Given the description of an element on the screen output the (x, y) to click on. 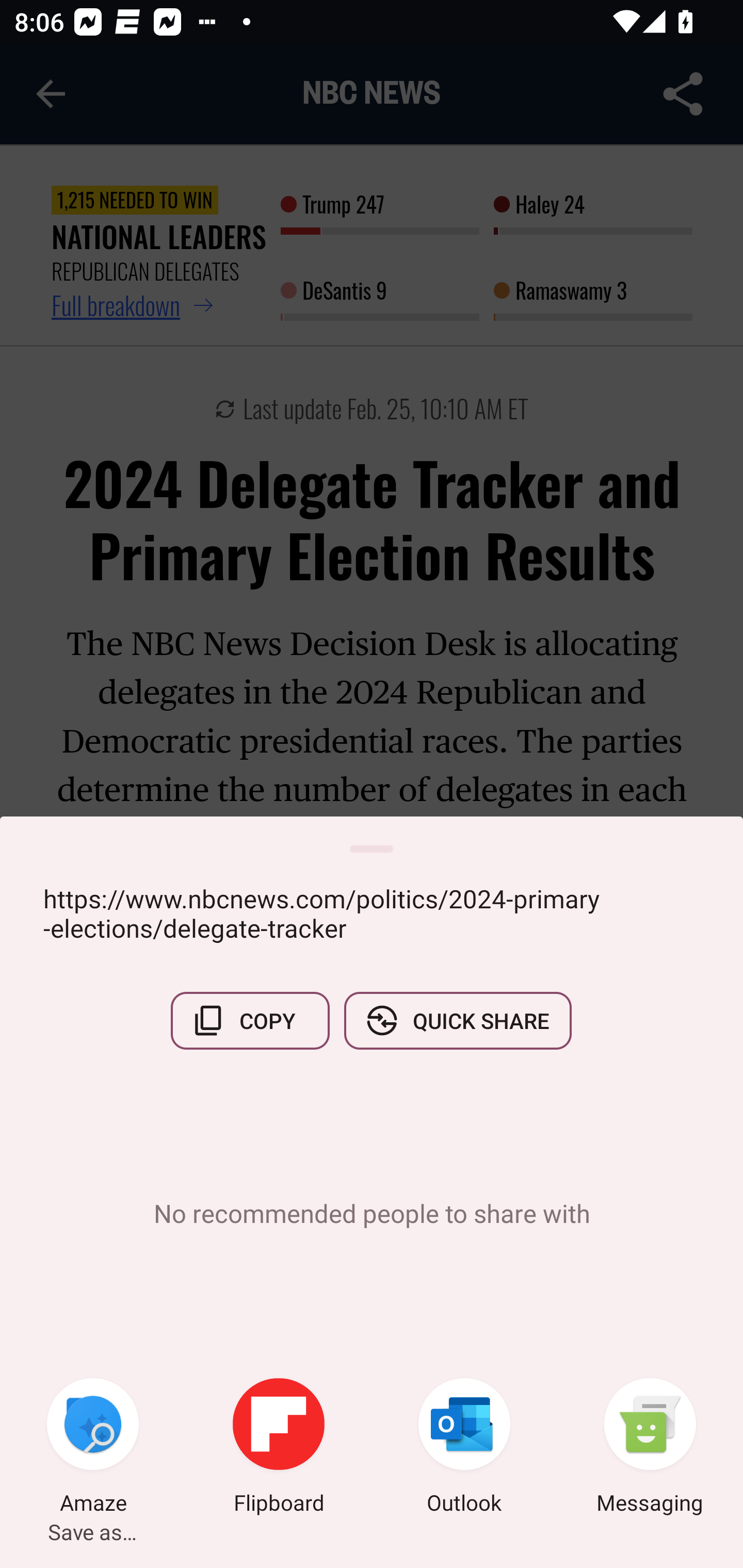
COPY (249, 1020)
QUICK SHARE (457, 1020)
Amaze Save as… (92, 1448)
Flipboard (278, 1448)
Outlook (464, 1448)
Messaging (650, 1448)
